Given the description of an element on the screen output the (x, y) to click on. 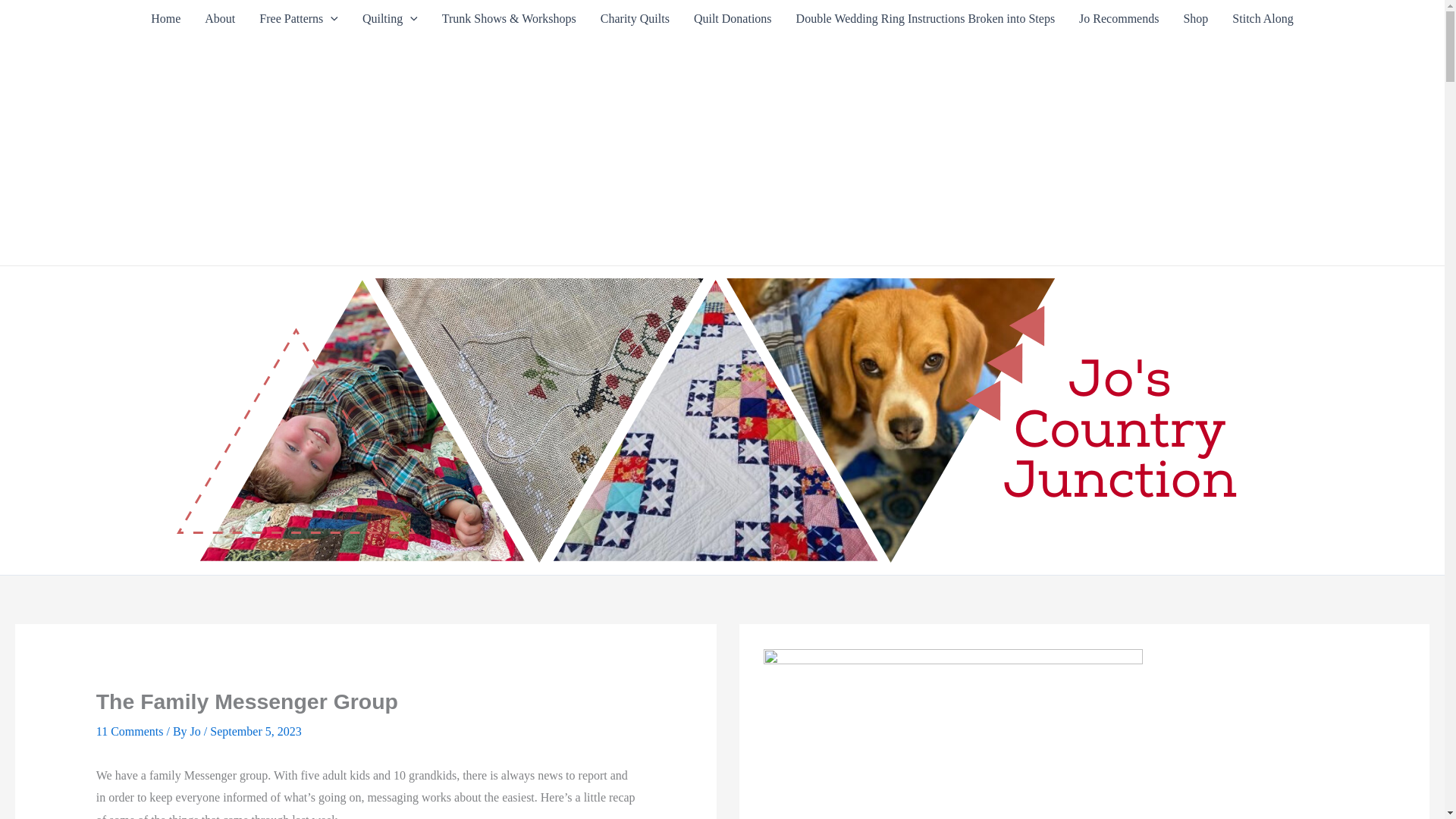
Charity Quilts (634, 18)
Home (165, 18)
View all posts by Jo (196, 730)
About (219, 18)
Quilt Donations (732, 18)
Free Patterns (298, 18)
Quilts of 2012 (389, 18)
Quilting (389, 18)
